Given the description of an element on the screen output the (x, y) to click on. 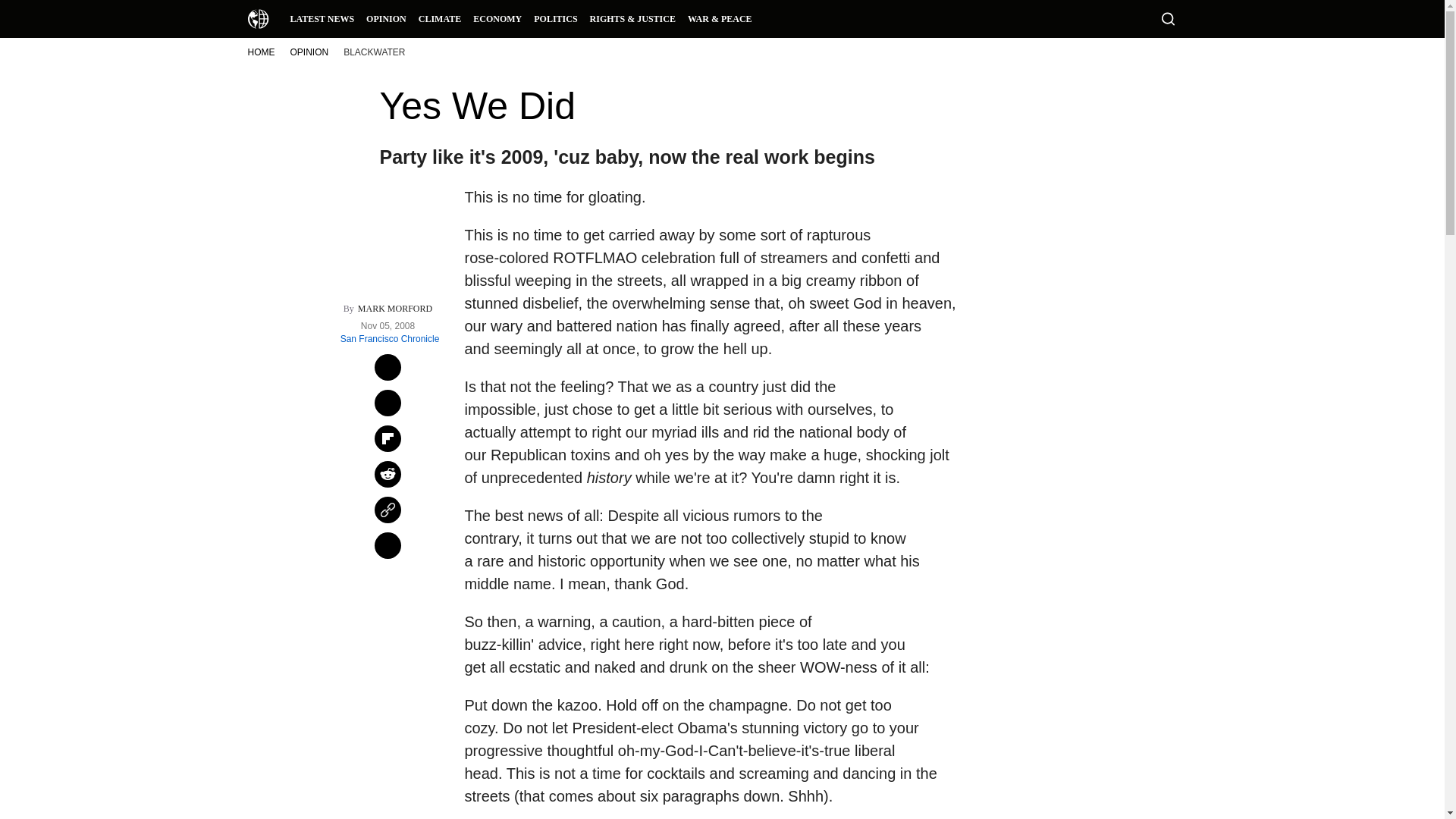
Copy this link to clipboard (387, 509)
Common Dreams (257, 17)
